Given the description of an element on the screen output the (x, y) to click on. 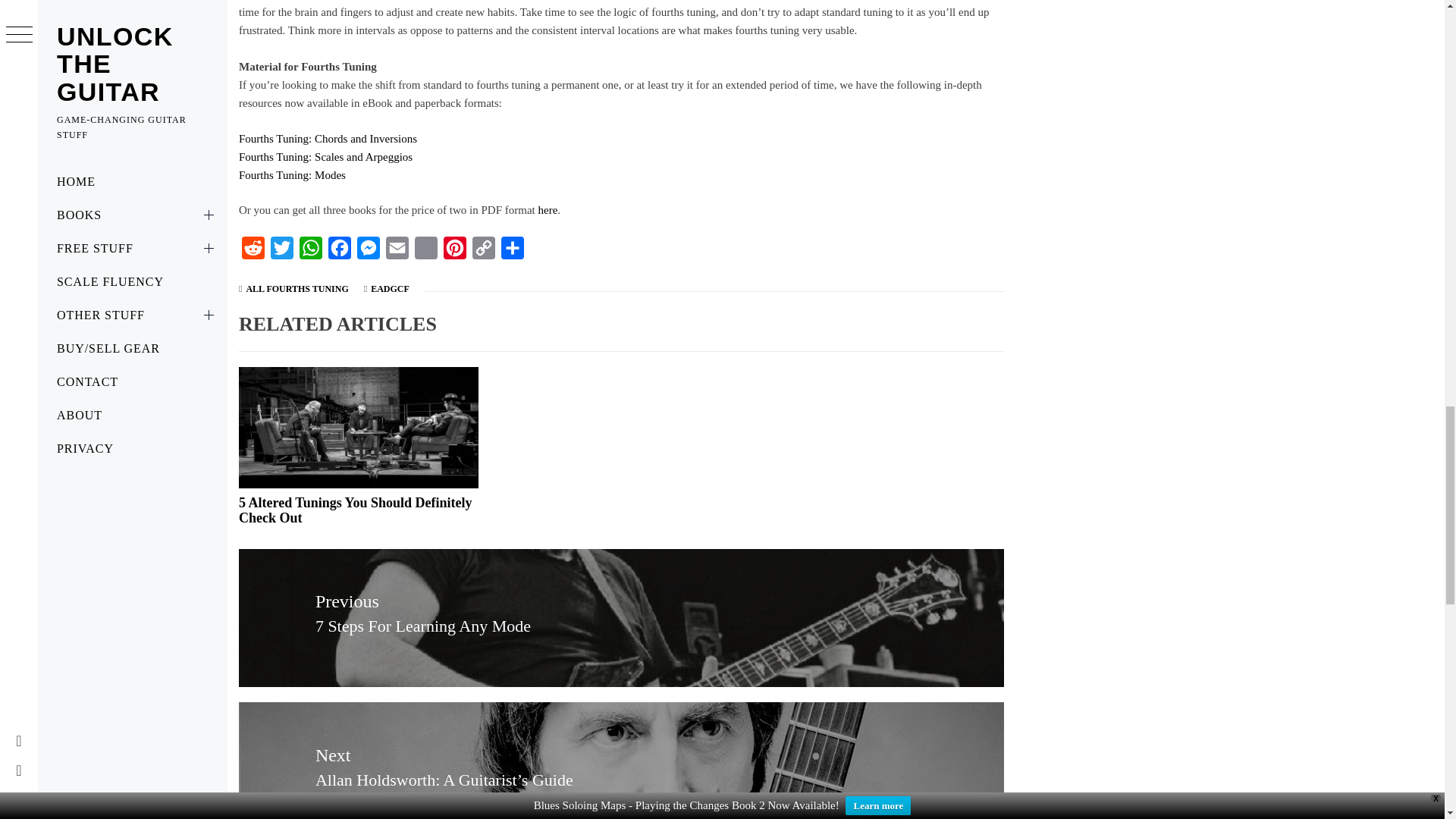
Reddit (252, 251)
Pinterest (454, 251)
Email (397, 251)
Facebook (338, 251)
Print (426, 251)
Messenger (367, 251)
WhatsApp (310, 251)
Twitter (282, 251)
Copy Link (482, 251)
